Given the description of an element on the screen output the (x, y) to click on. 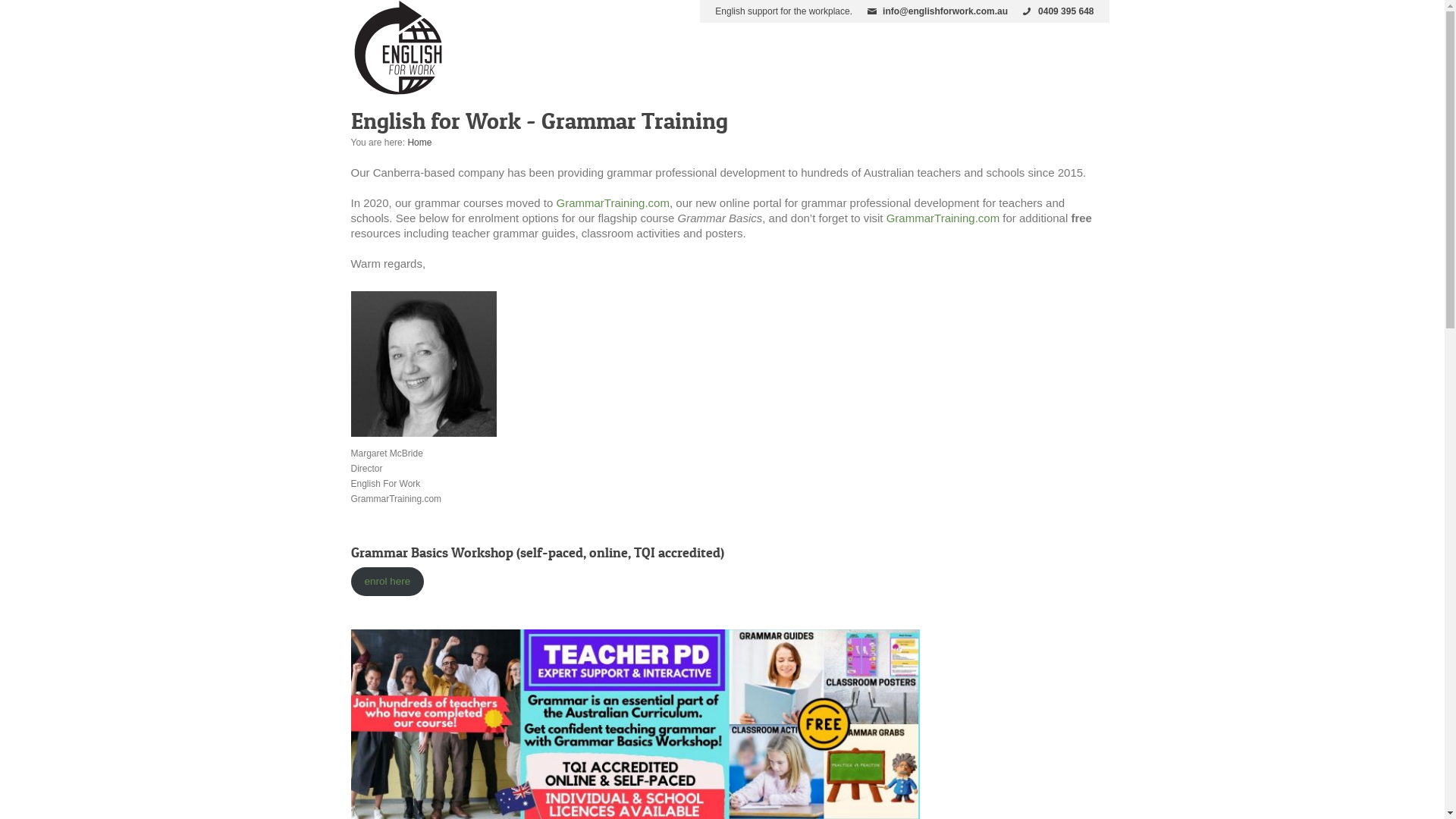
enrol here Element type: text (386, 581)
Grammar Basics Workshop (self-paced, online, TQI accredited) Element type: text (536, 552)
GrammarTraining.com Element type: text (942, 217)
Home Element type: text (419, 142)
GrammarTraining.com Element type: text (611, 202)
